Given the description of an element on the screen output the (x, y) to click on. 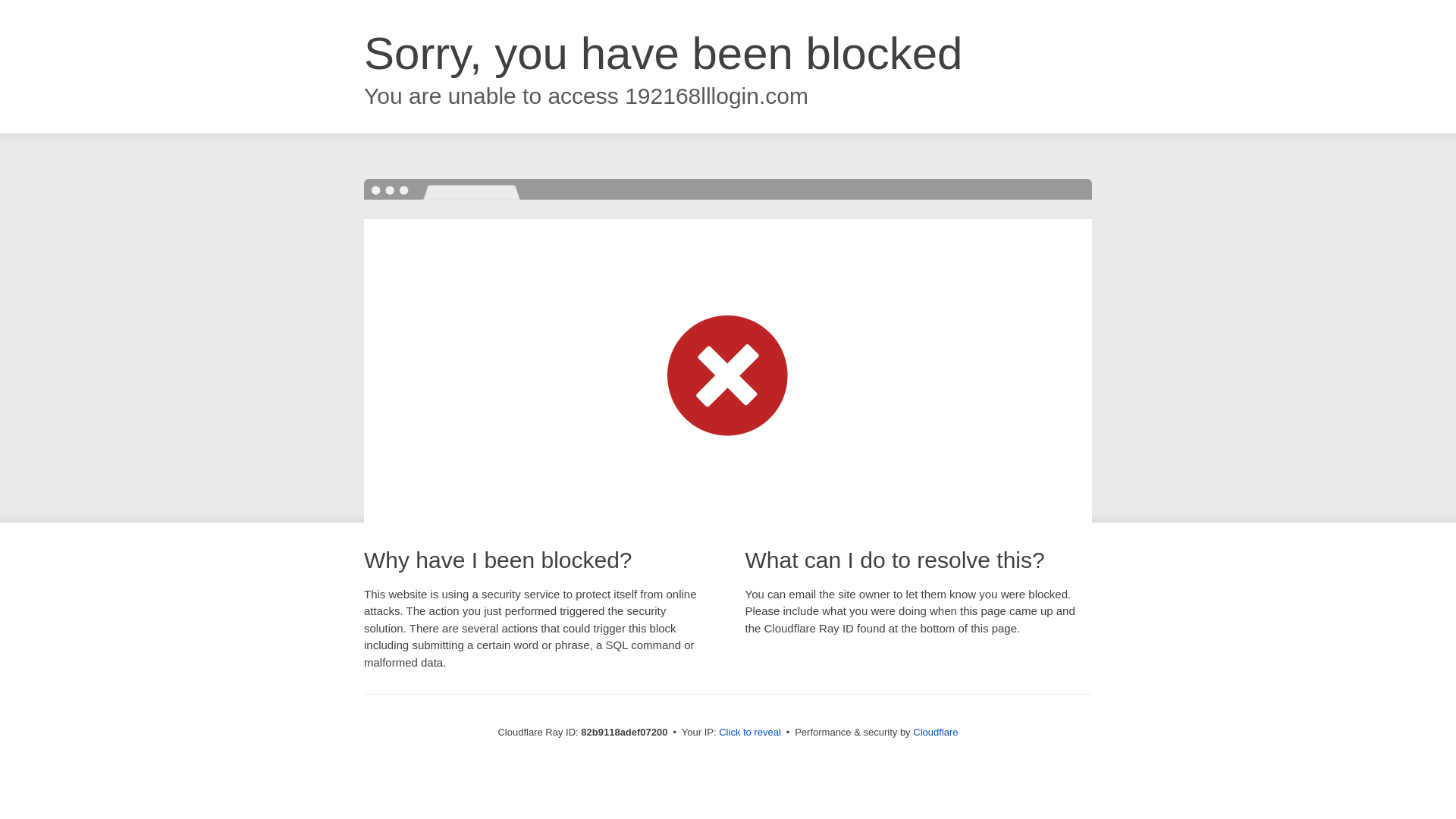
Click to reveal Element type: text (749, 732)
Cloudflare Element type: text (935, 731)
